Given the description of an element on the screen output the (x, y) to click on. 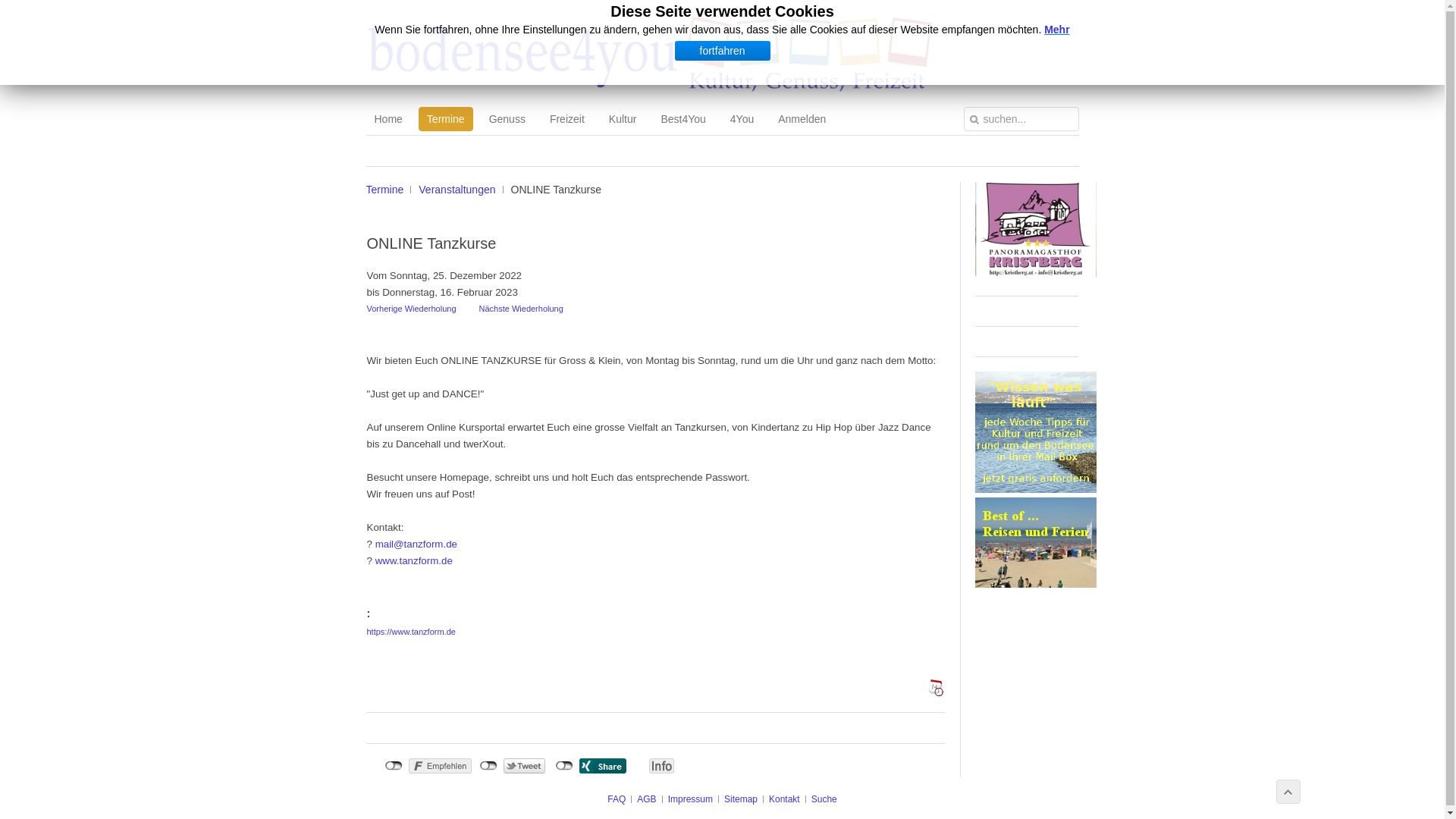
FAQ Element type: text (616, 799)
Termine Element type: text (388, 189)
Freizeit Element type: text (567, 118)
AGB Element type: text (646, 799)
Best of Reisen und Ferien Button Element type: hover (1035, 583)
viagogo Element type: hover (1035, 489)
Kultur Element type: text (622, 118)
Kristberg Logo Button Element type: hover (1035, 272)
Reset Element type: text (3, 3)
Veranstaltungen Element type: text (460, 189)
Best4You Element type: text (682, 118)
Termine Element type: text (445, 118)
Suche Element type: text (824, 799)
www.tanzform.de Element type: text (413, 560)
Genuss Element type: text (506, 118)
Home Element type: text (387, 118)
https://www.tanzform.de Element type: text (411, 631)
Mehr Element type: text (1056, 29)
mail@tanzform.de Element type: text (416, 543)
Als iCal-Datei herunterladen Element type: hover (935, 686)
Impressum Element type: text (690, 799)
Vorherige Wiederholung Element type: text (411, 308)
Kontakt Element type: text (784, 799)
4You Element type: text (741, 118)
Sitemap Element type: text (740, 799)
